Given the description of an element on the screen output the (x, y) to click on. 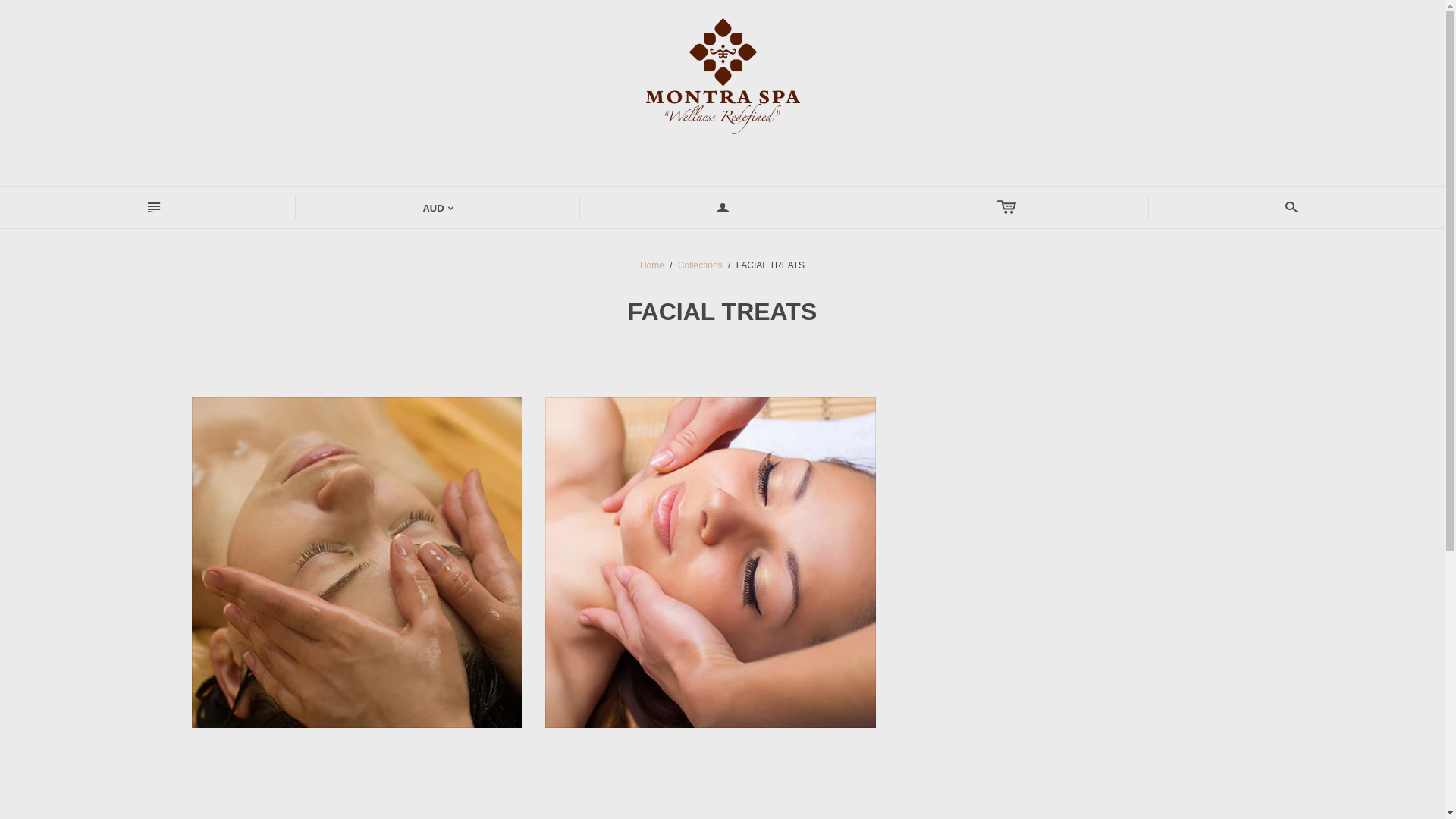
a Element type: text (722, 207)
Home Element type: text (652, 265)
Collections Element type: text (699, 265)
